Given the description of an element on the screen output the (x, y) to click on. 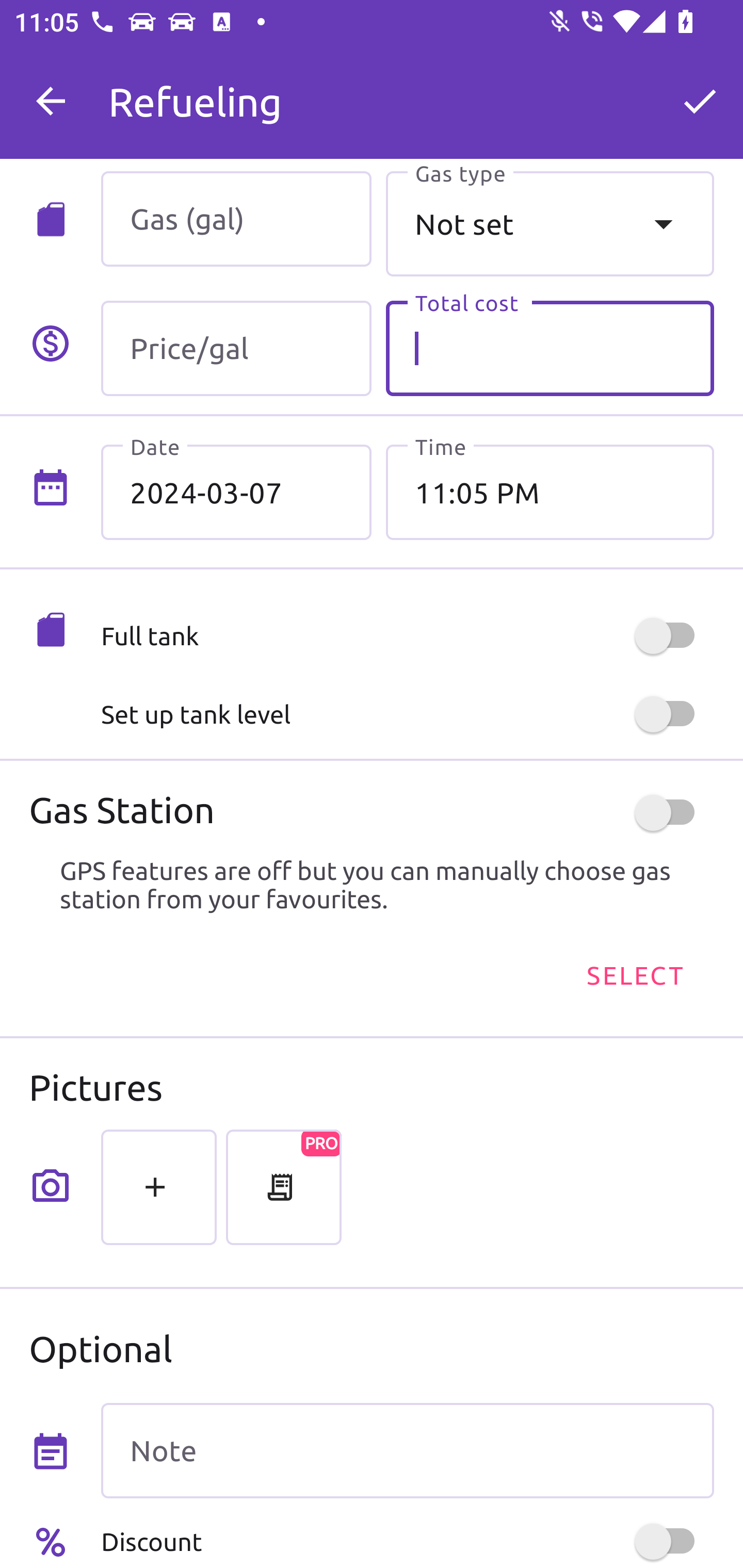
M My Car 0 km (407, 92)
Navigate up (50, 101)
OK (699, 101)
Gas (gal) (236, 218)
Not set (549, 222)
Price/gal (236, 348)
Total cost  (549, 348)
2024-03-07 (236, 492)
11:05 PM (549, 492)
Full tank (407, 635)
Set up tank level (407, 713)
SELECT (634, 974)
Note (407, 1451)
Discount (407, 1541)
